Given the description of an element on the screen output the (x, y) to click on. 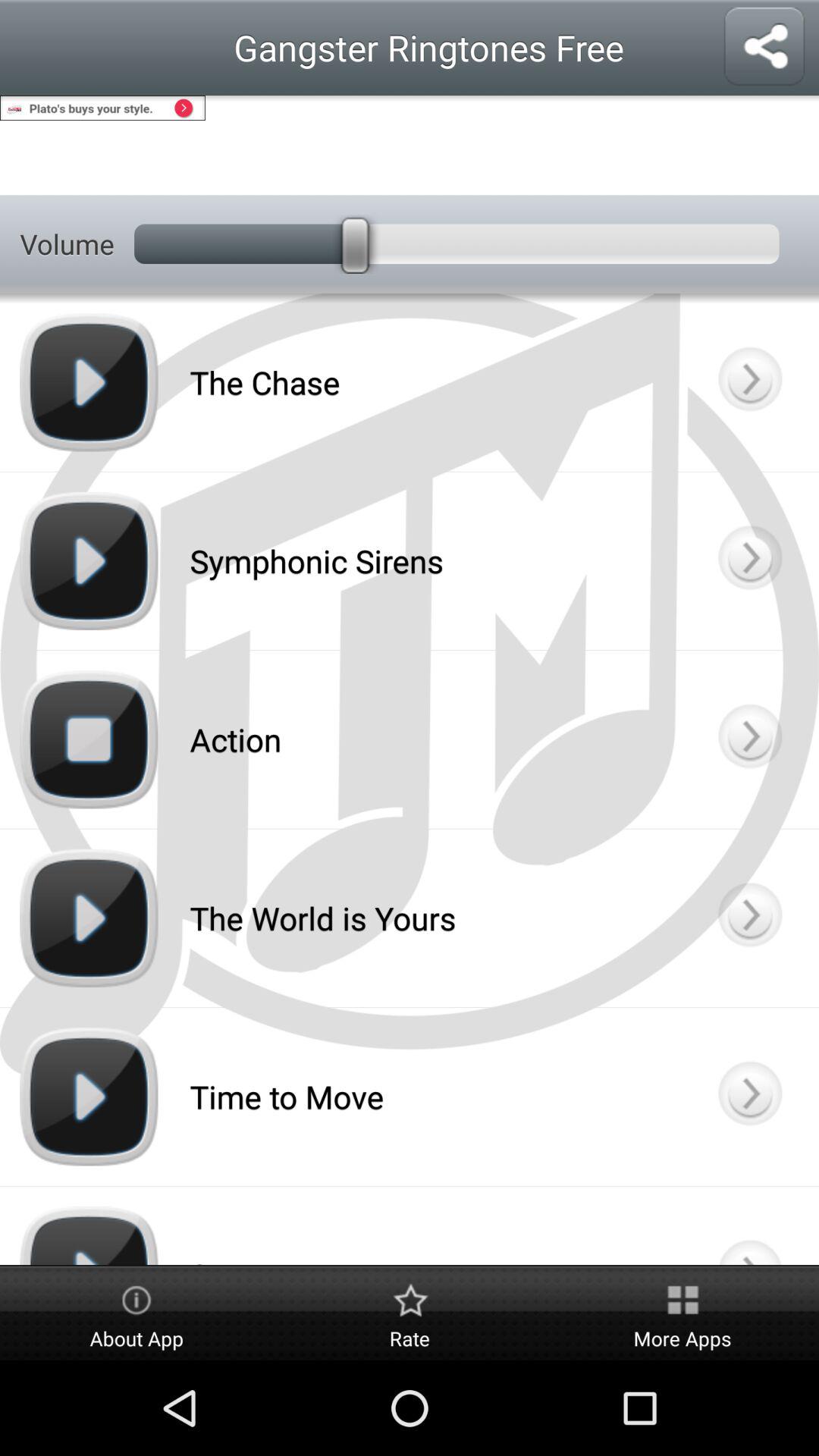
open screen (749, 739)
